Given the description of an element on the screen output the (x, y) to click on. 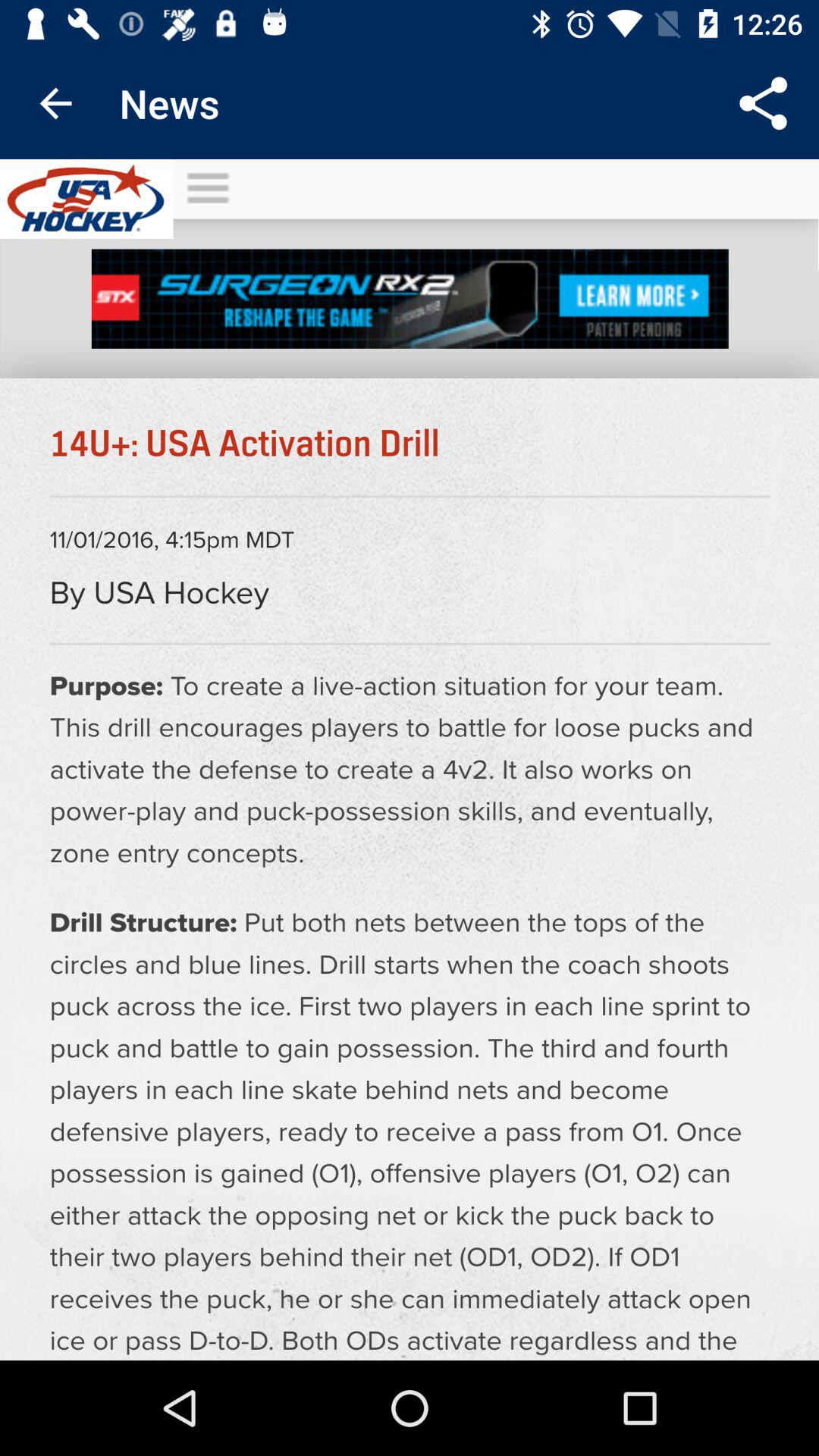
view article description (409, 759)
